Given the description of an element on the screen output the (x, y) to click on. 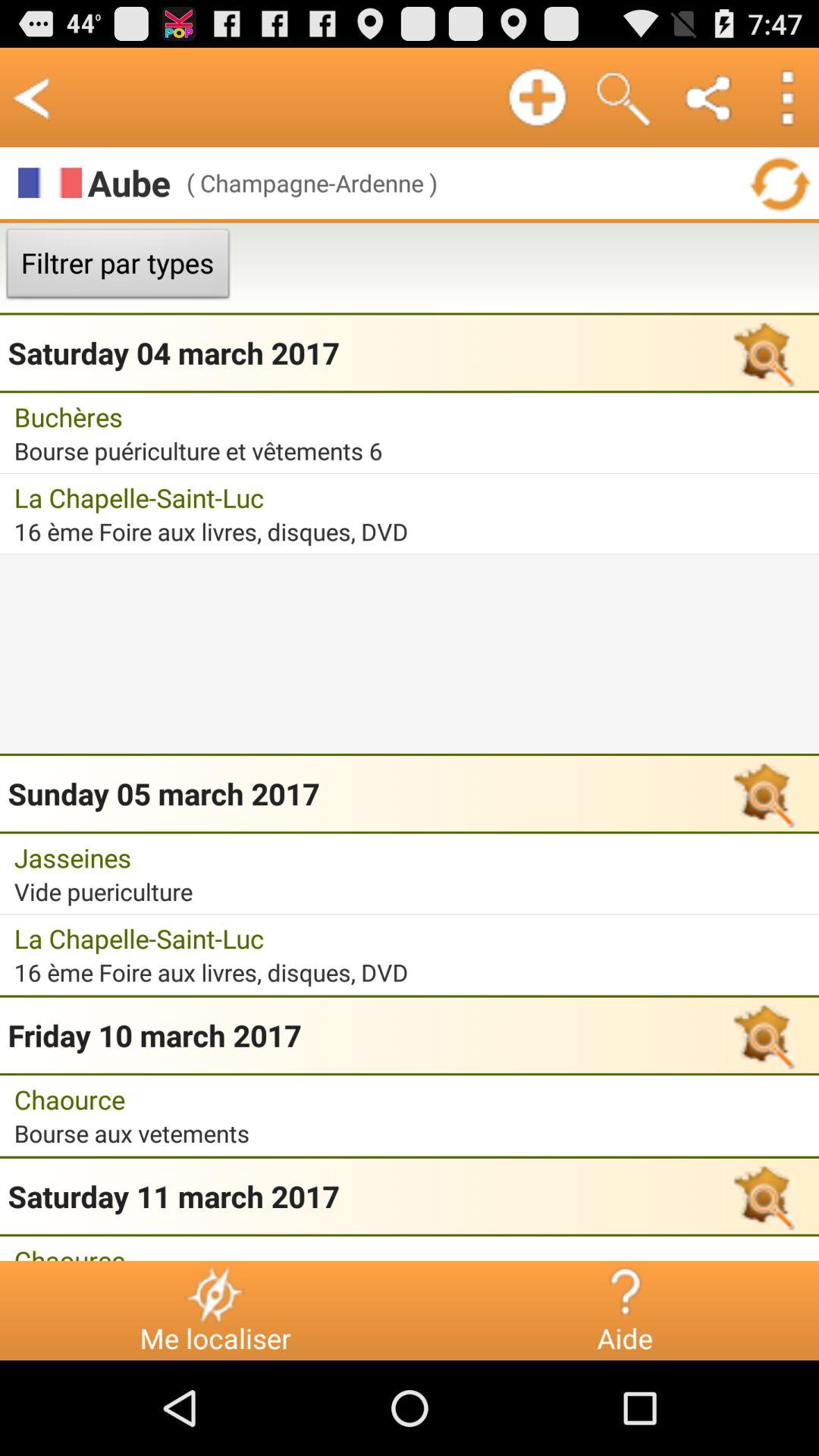
select the search icon from the top of the page (623, 97)
select the icon on the top left corner (32, 97)
select the button which is right to sunday 05 march 2017 (761, 793)
go to the icon which is right to the saturday 11 march 2017 (761, 1195)
click on the add icon (537, 97)
